Given the description of an element on the screen output the (x, y) to click on. 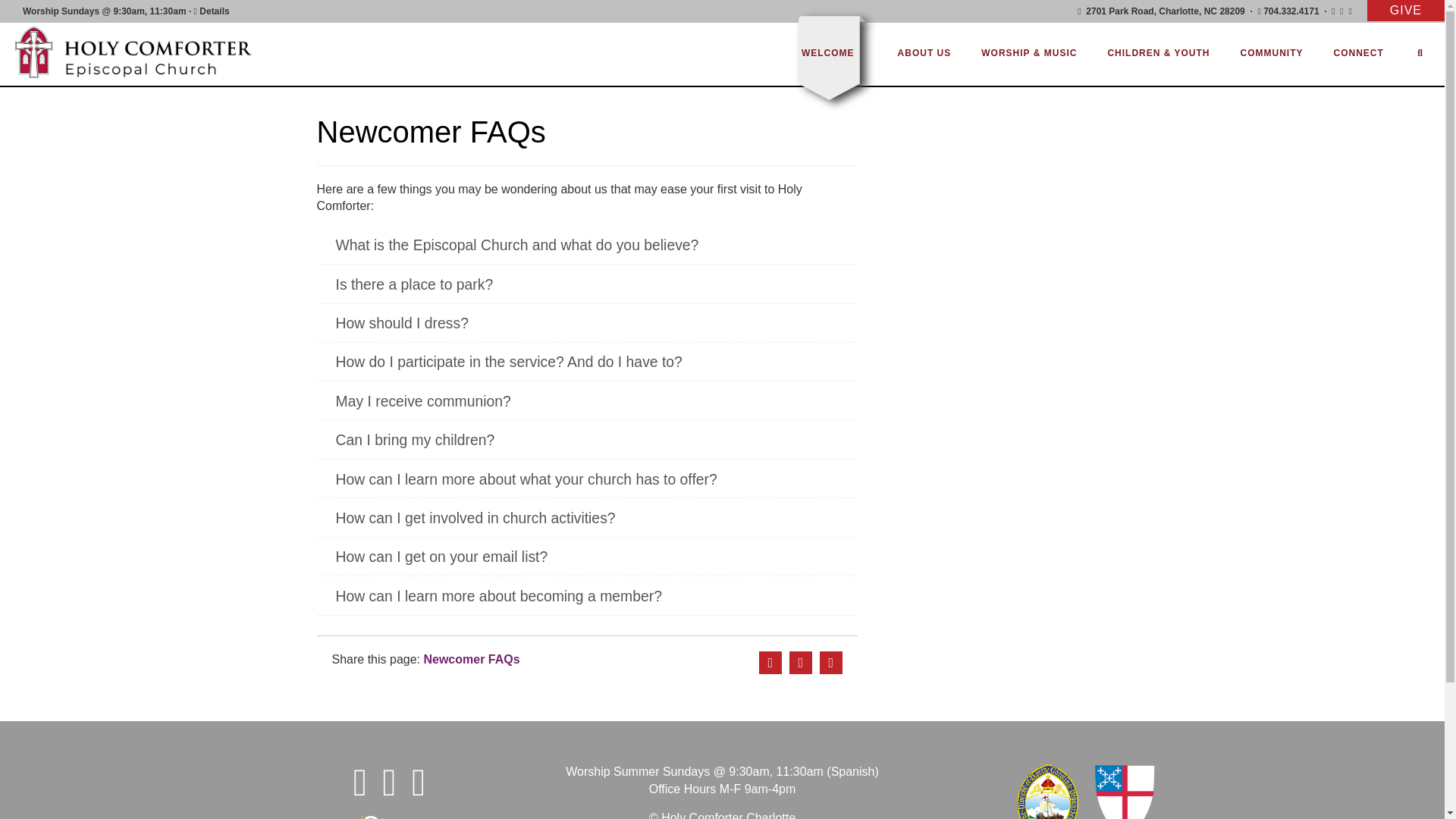
Share via Email (831, 662)
WELCOME (828, 52)
ABOUT US (925, 52)
Share on Facebook (769, 662)
Holy Comforter Charlotte (139, 51)
COMMUNITY (1271, 52)
CONNECT (1358, 52)
Holy Comforter Charlotte (139, 51)
Share on Twitter (800, 662)
